Given the description of an element on the screen output the (x, y) to click on. 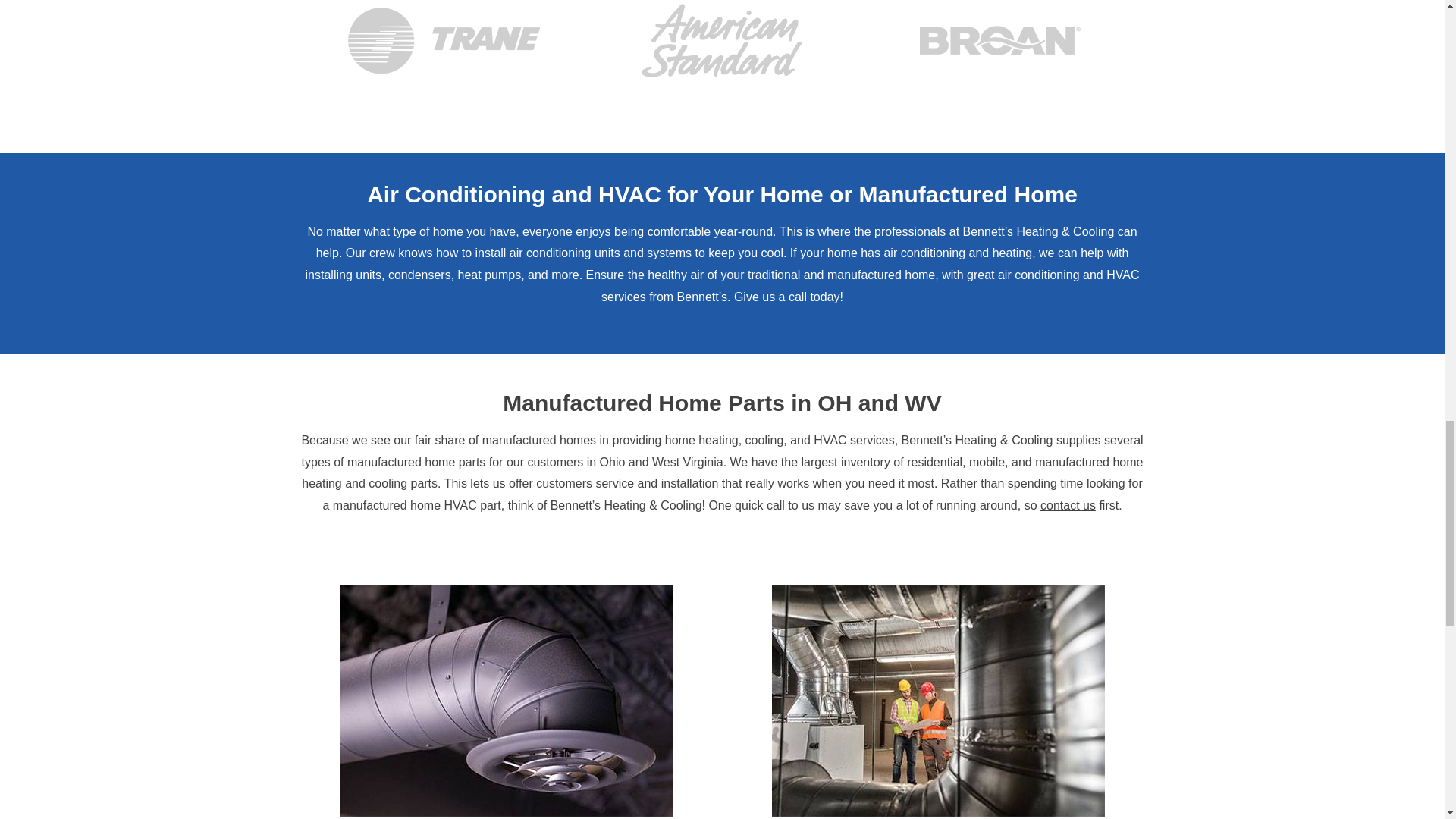
contact us (1068, 504)
